Given the description of an element on the screen output the (x, y) to click on. 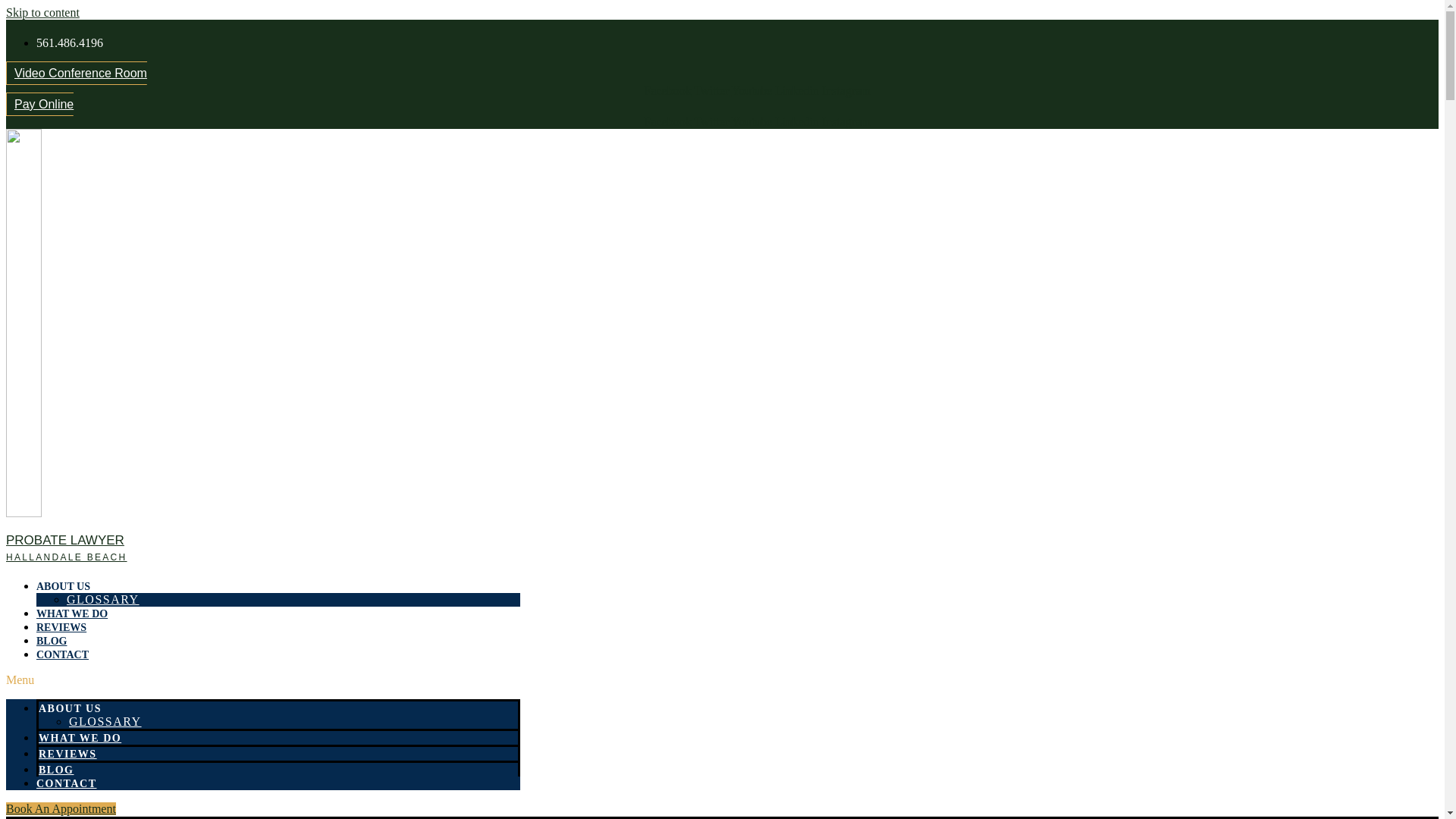
Video Conference Room (76, 73)
BLOG (56, 769)
ABOUT US (70, 708)
Facebook (668, 90)
REVIEWS (60, 627)
WHAT WE DO (71, 613)
WHAT WE DO (79, 737)
Youtube (754, 121)
Instagram (846, 90)
HALLANDALE BEACH (66, 557)
Linkedin (798, 90)
GLOSSARY (104, 721)
Book An Appointment (60, 808)
REVIEWS (68, 754)
CONTACT (62, 654)
